Given the description of an element on the screen output the (x, y) to click on. 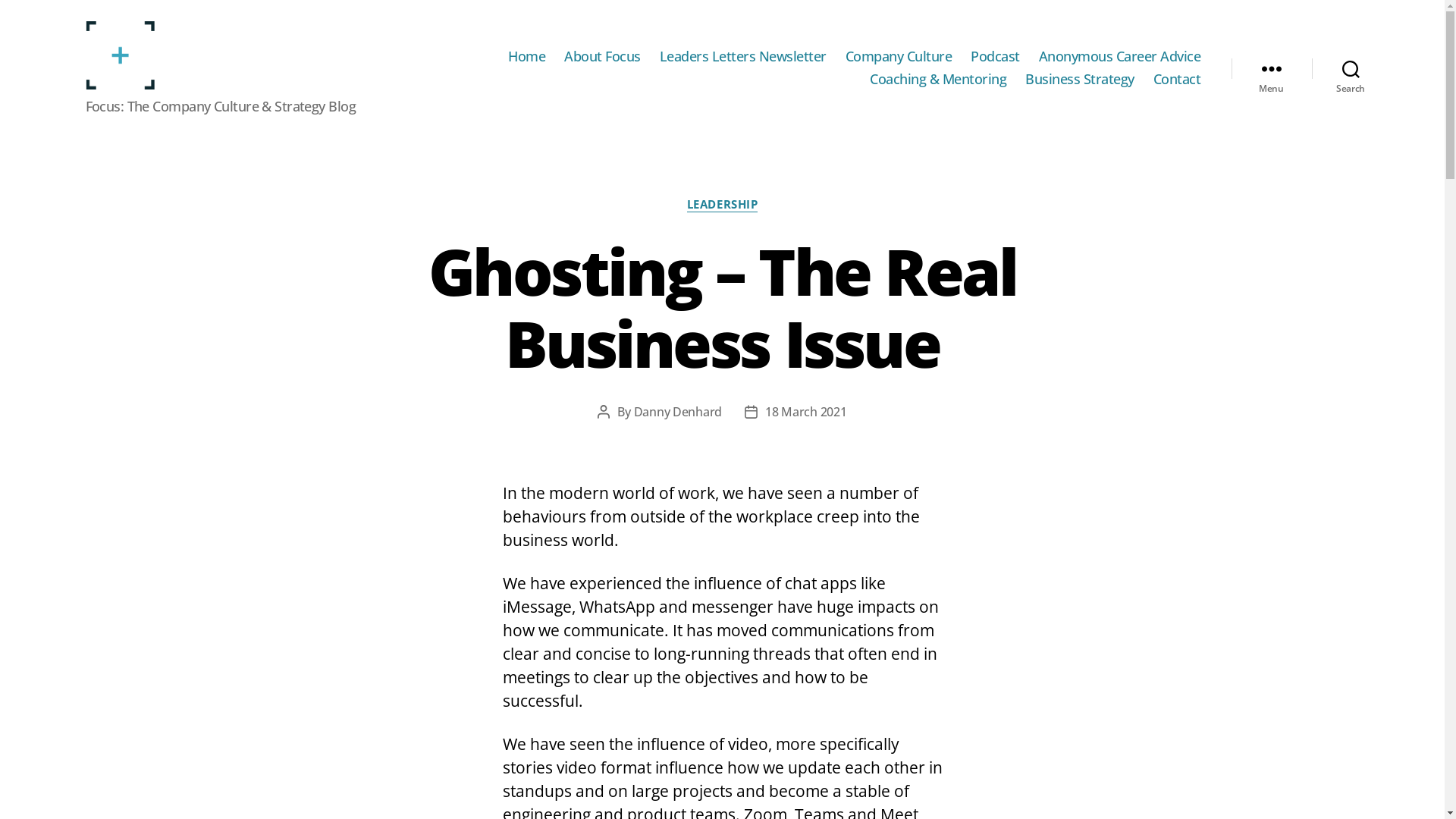
Company Culture Element type: text (898, 56)
Contact Element type: text (1177, 79)
Podcast Element type: text (994, 56)
Search Element type: text (1350, 67)
About Focus Element type: text (602, 56)
Menu Element type: text (1271, 67)
LEADERSHIP Element type: text (722, 204)
Leaders Letters Newsletter Element type: text (742, 56)
Home Element type: text (526, 56)
Coaching & Mentoring Element type: text (937, 79)
Anonymous Career Advice Element type: text (1119, 56)
Danny Denhard Element type: text (677, 411)
18 March 2021 Element type: text (806, 411)
Business Strategy Element type: text (1079, 79)
